Given the description of an element on the screen output the (x, y) to click on. 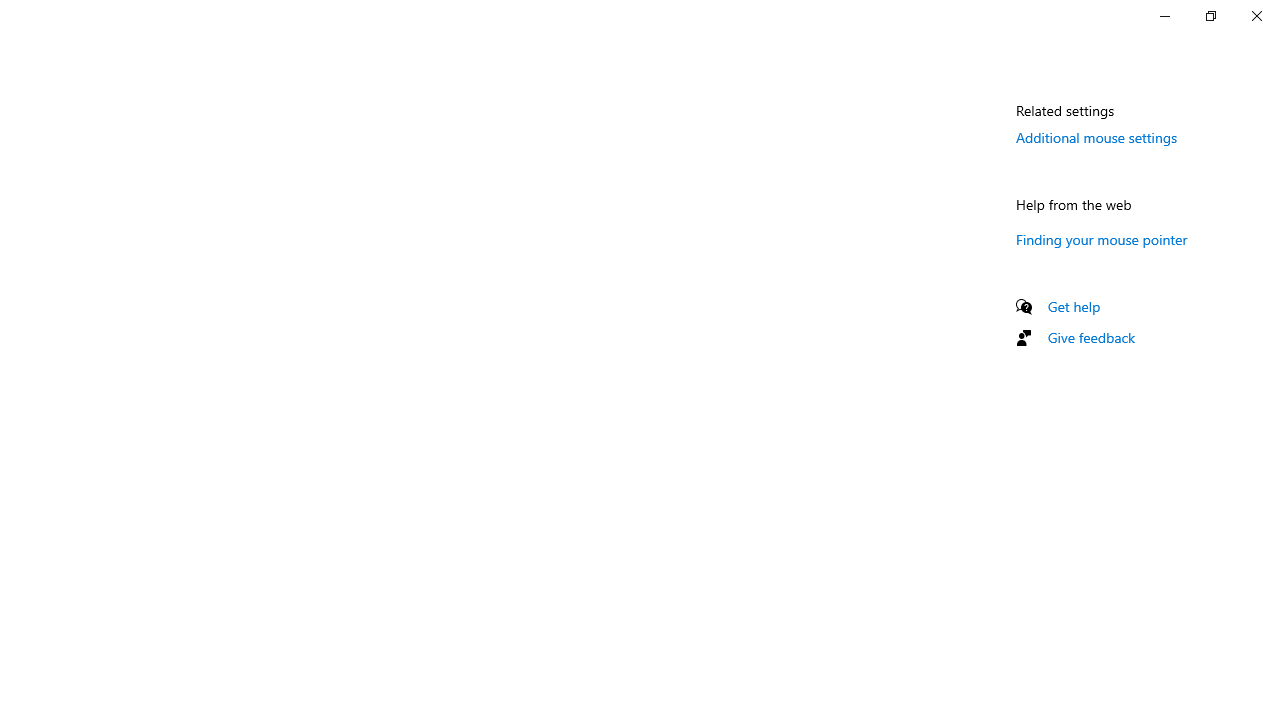
Restore Settings (1210, 15)
Give feedback (1091, 337)
Additional mouse settings (1096, 137)
Close Settings (1256, 15)
Minimize Settings (1164, 15)
Get help (1074, 306)
Finding your mouse pointer (1101, 239)
